Given the description of an element on the screen output the (x, y) to click on. 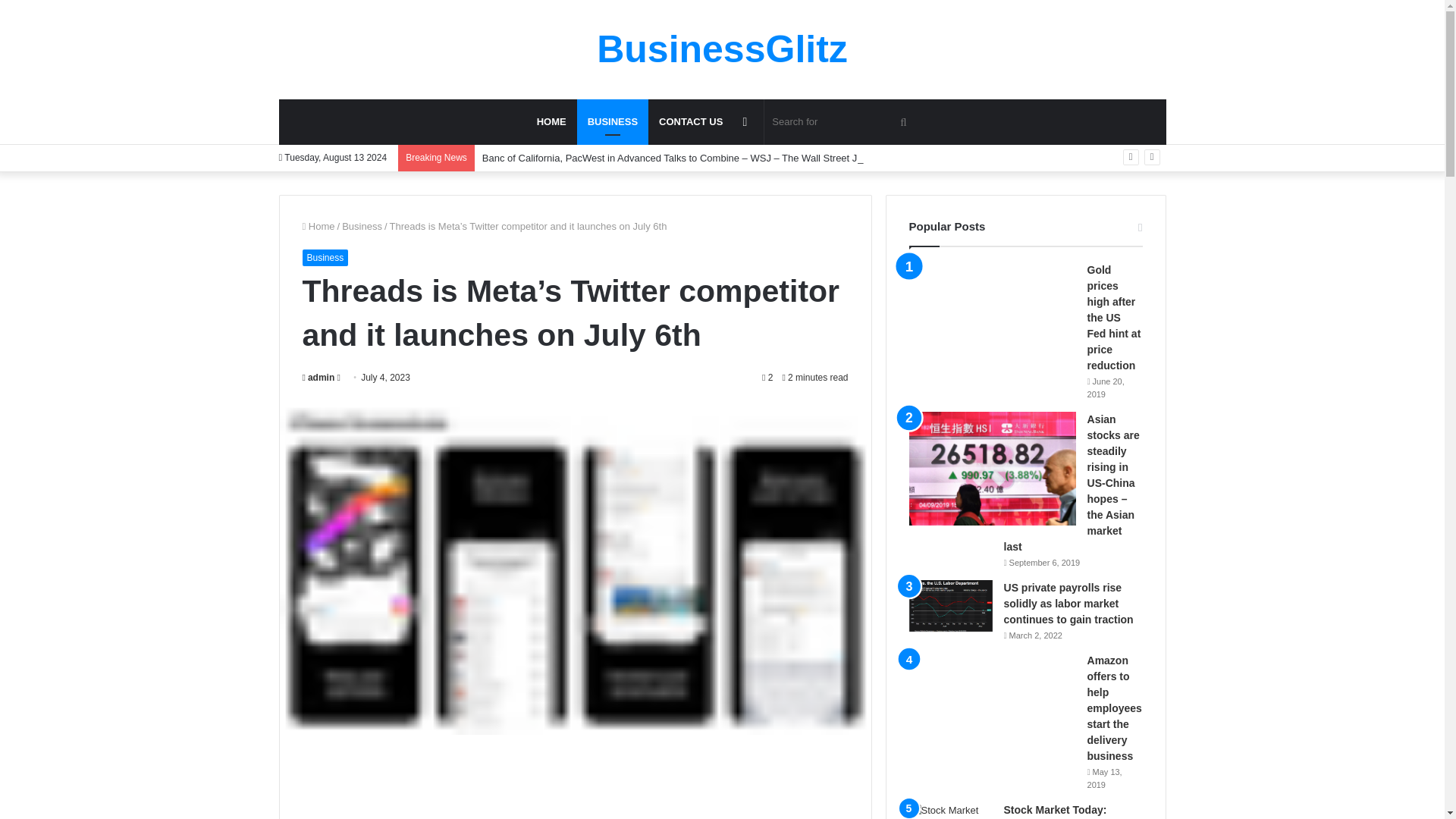
admin (317, 377)
CONTACT US (690, 121)
BusinessGlitz (721, 48)
Business (324, 257)
Home (317, 225)
Business (611, 121)
BUSINESS (611, 121)
Business (361, 225)
Search for (841, 121)
BusinessGlitz (721, 48)
